Given the description of an element on the screen output the (x, y) to click on. 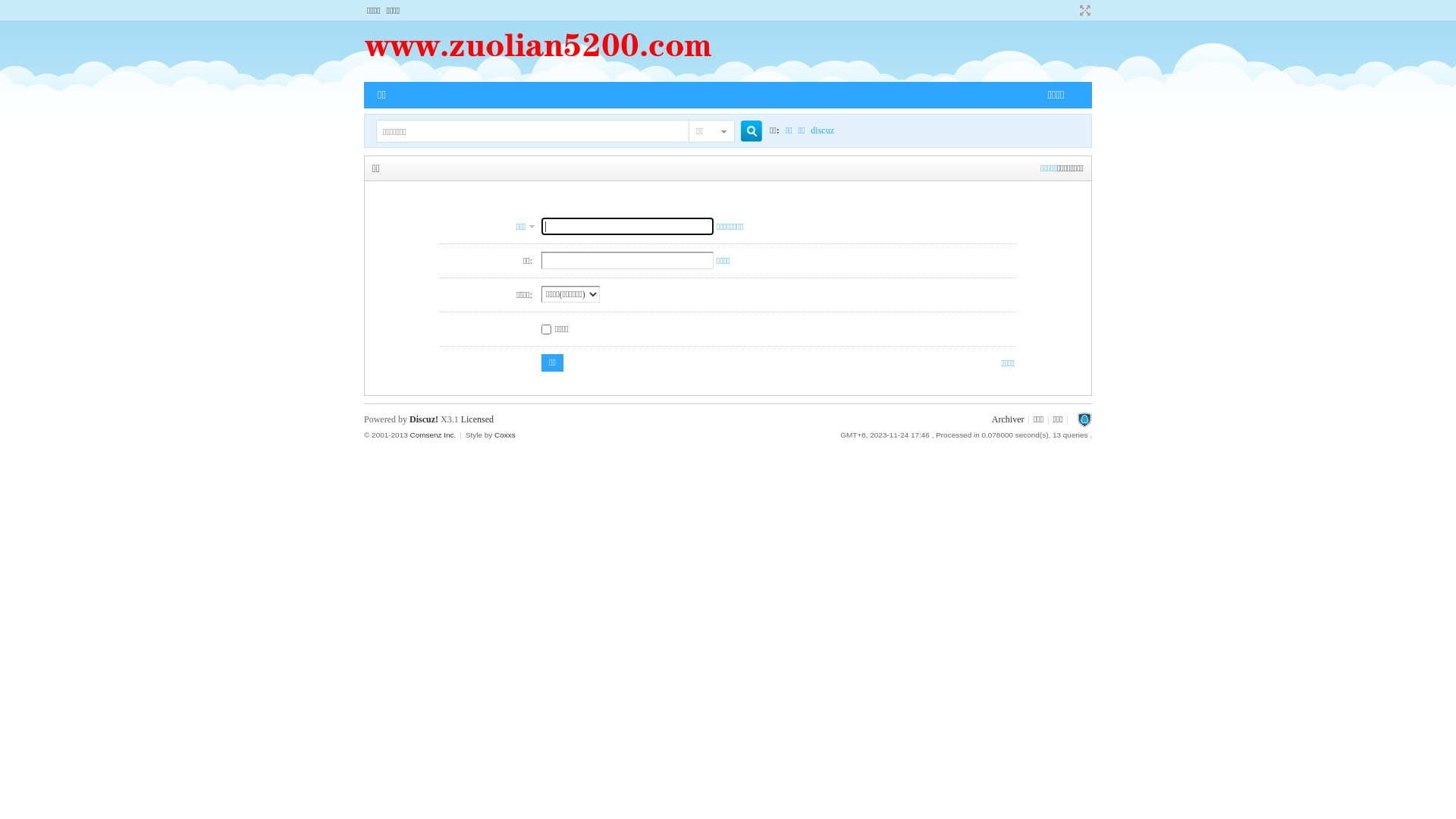
Coxxs Element type: text (504, 434)
Archiver Element type: text (1007, 419)
discuz Element type: text (822, 130)
Licensed Element type: text (477, 419)
Comsenz Inc. Element type: text (432, 434)
Discuz! Element type: text (423, 419)
